Given the description of an element on the screen output the (x, y) to click on. 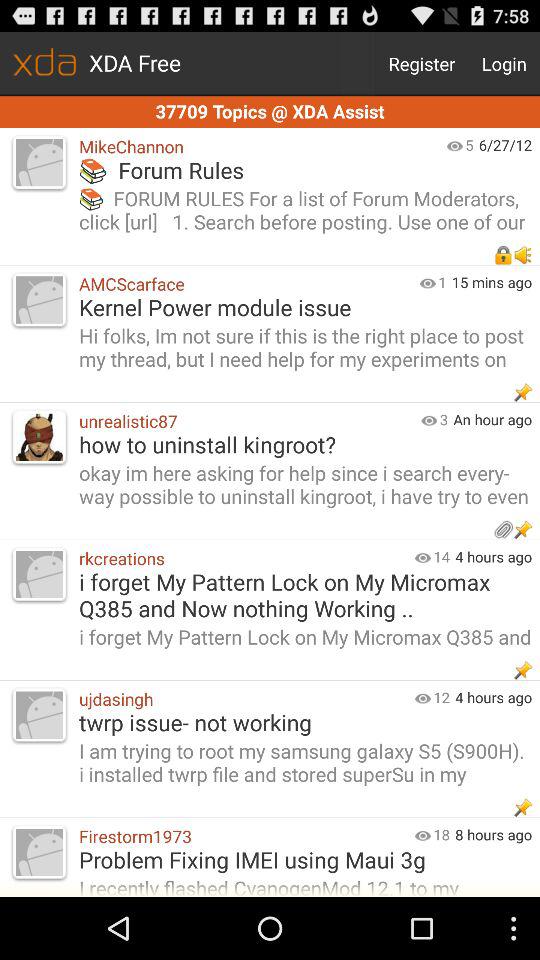
choose item below the register icon (270, 111)
